Given the description of an element on the screen output the (x, y) to click on. 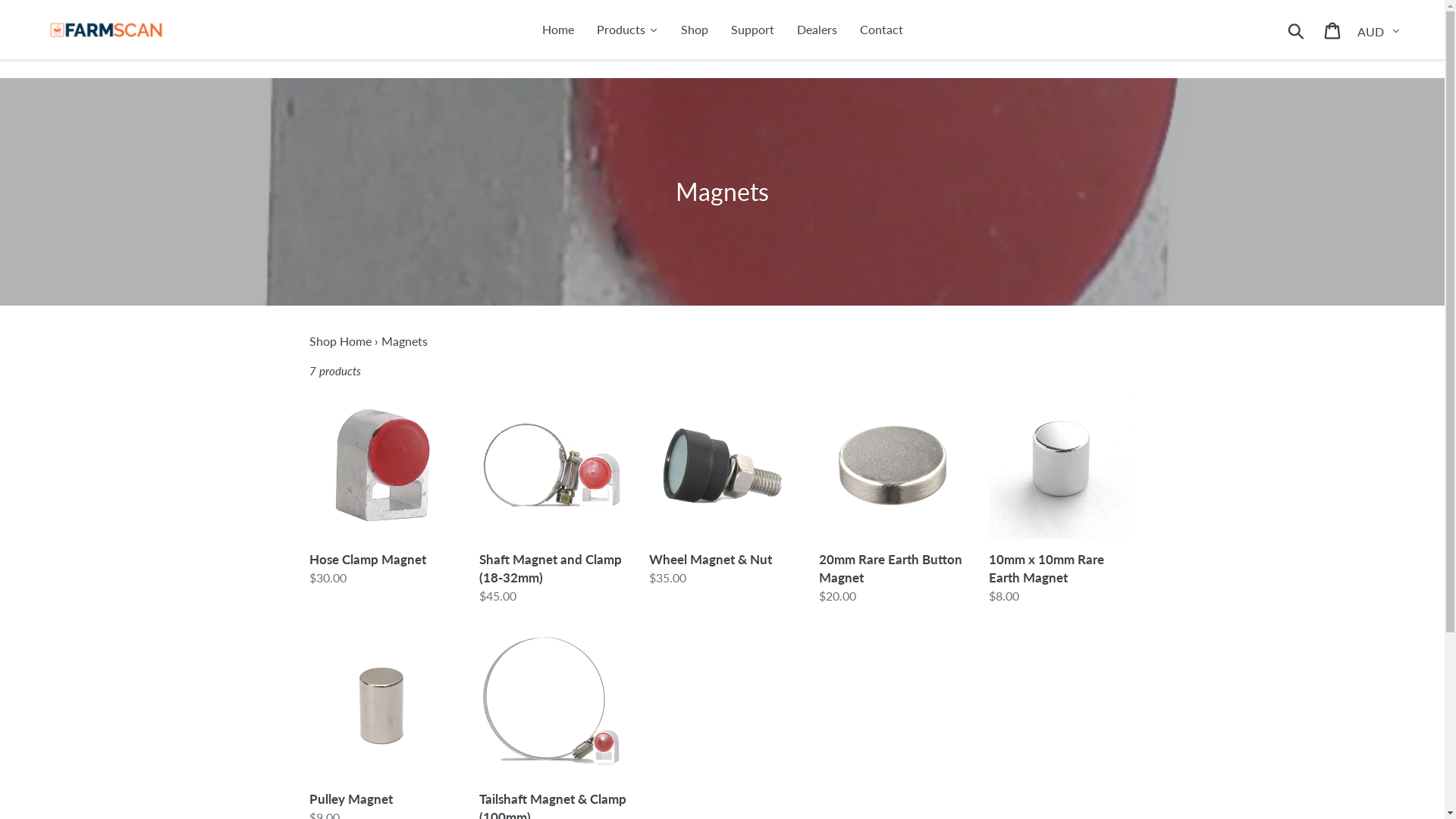
10mm x 10mm Rare Earth Magnet Element type: text (1061, 498)
Wheel Magnet & Nut Element type: text (722, 489)
Home Element type: text (557, 29)
Dealers Element type: text (816, 29)
Support Element type: text (751, 29)
Cart Element type: text (1333, 29)
Products Element type: text (627, 29)
Shop Element type: text (693, 29)
Shaft Magnet and Clamp (18-32mm) Element type: text (552, 498)
20mm Rare Earth Button Magnet Element type: text (892, 498)
Shop Home Element type: text (340, 340)
Shop Home Element type: text (693, 110)
Hose Clamp Magnet Element type: text (382, 489)
Contact Element type: text (880, 29)
Submit Element type: text (1296, 29)
